Given the description of an element on the screen output the (x, y) to click on. 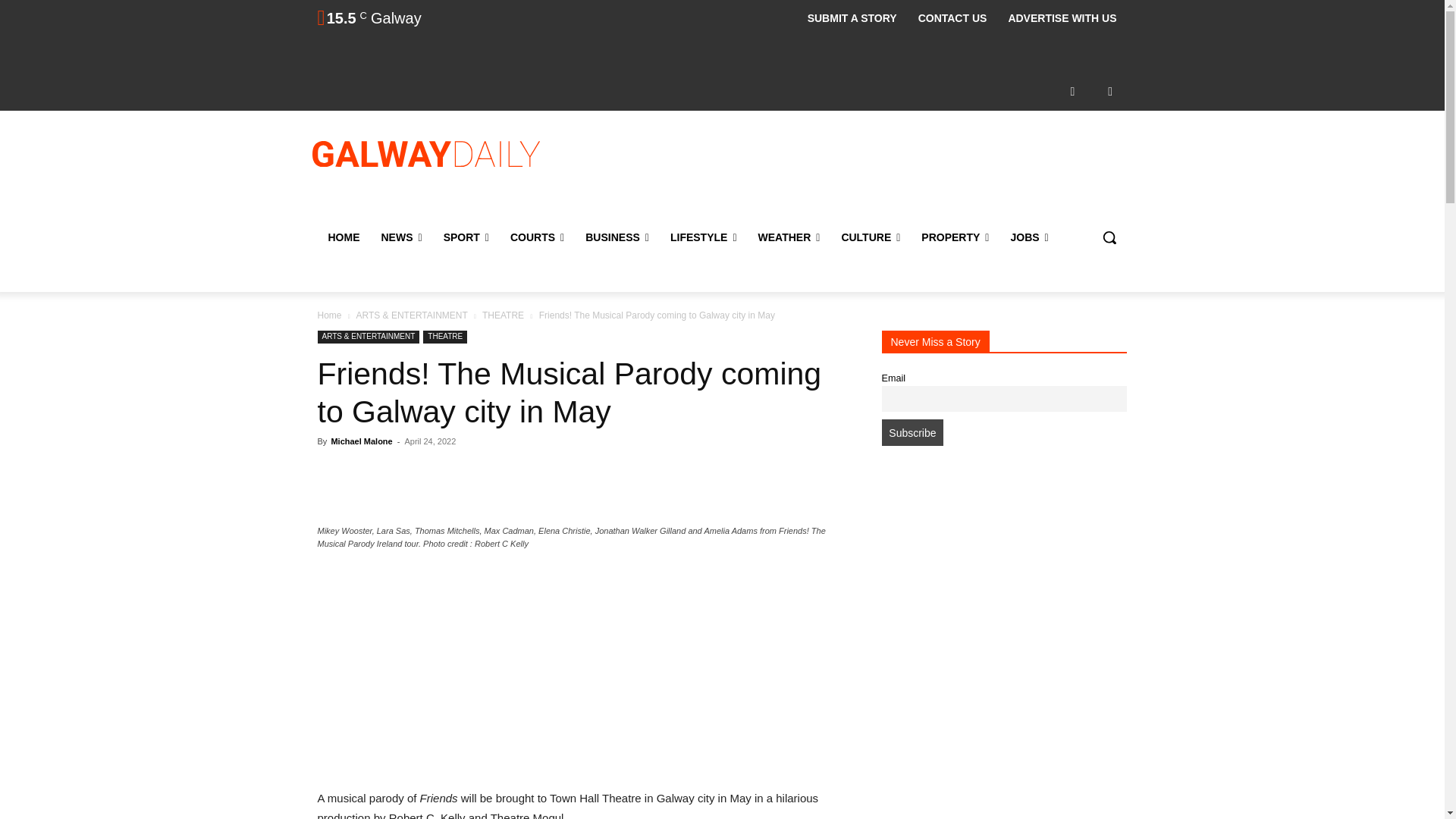
Subscribe (911, 432)
Facebook (1072, 91)
Twitter (1109, 91)
Advertisement (846, 172)
